Given the description of an element on the screen output the (x, y) to click on. 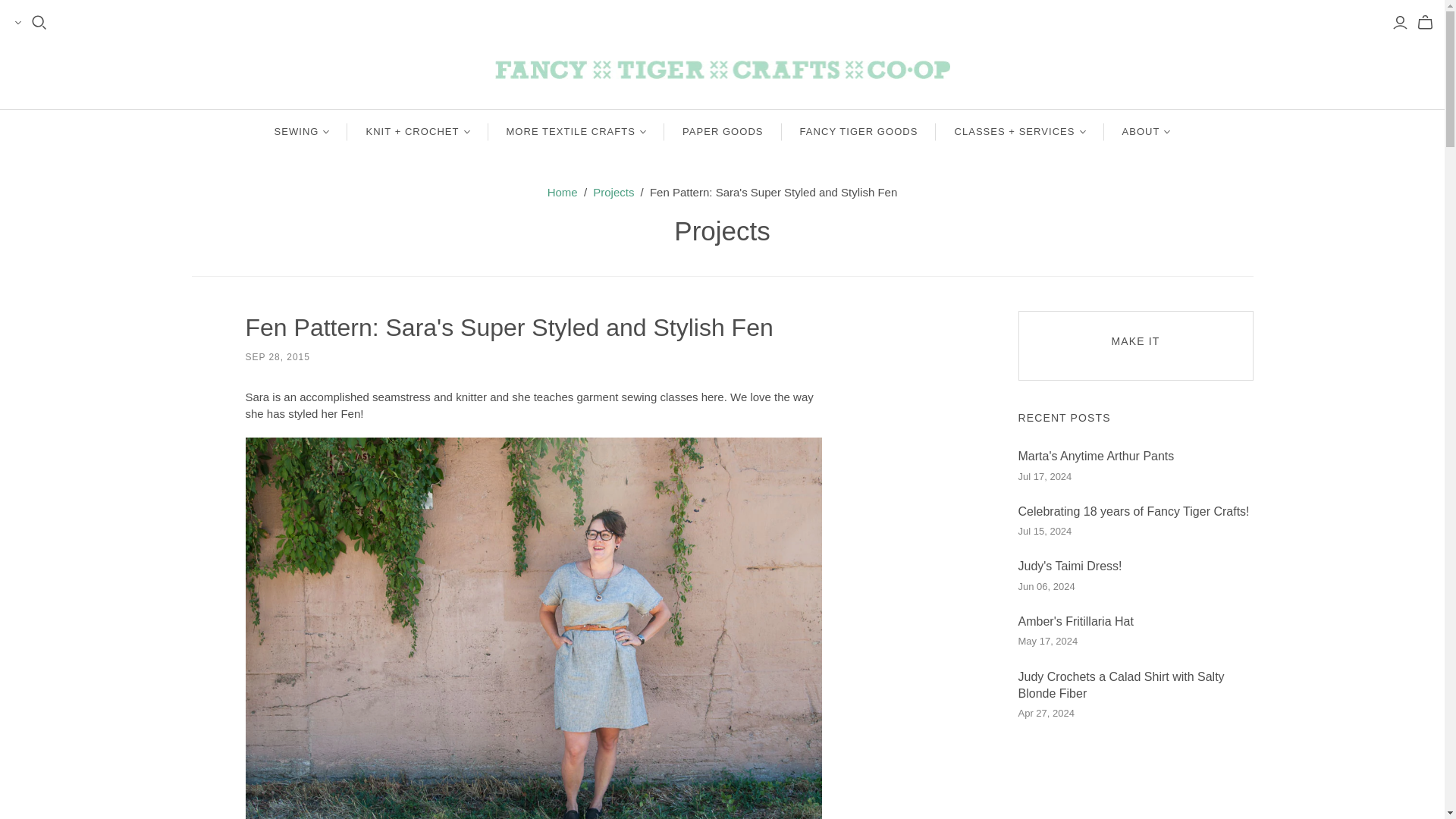
SEWING (301, 131)
